Given the description of an element on the screen output the (x, y) to click on. 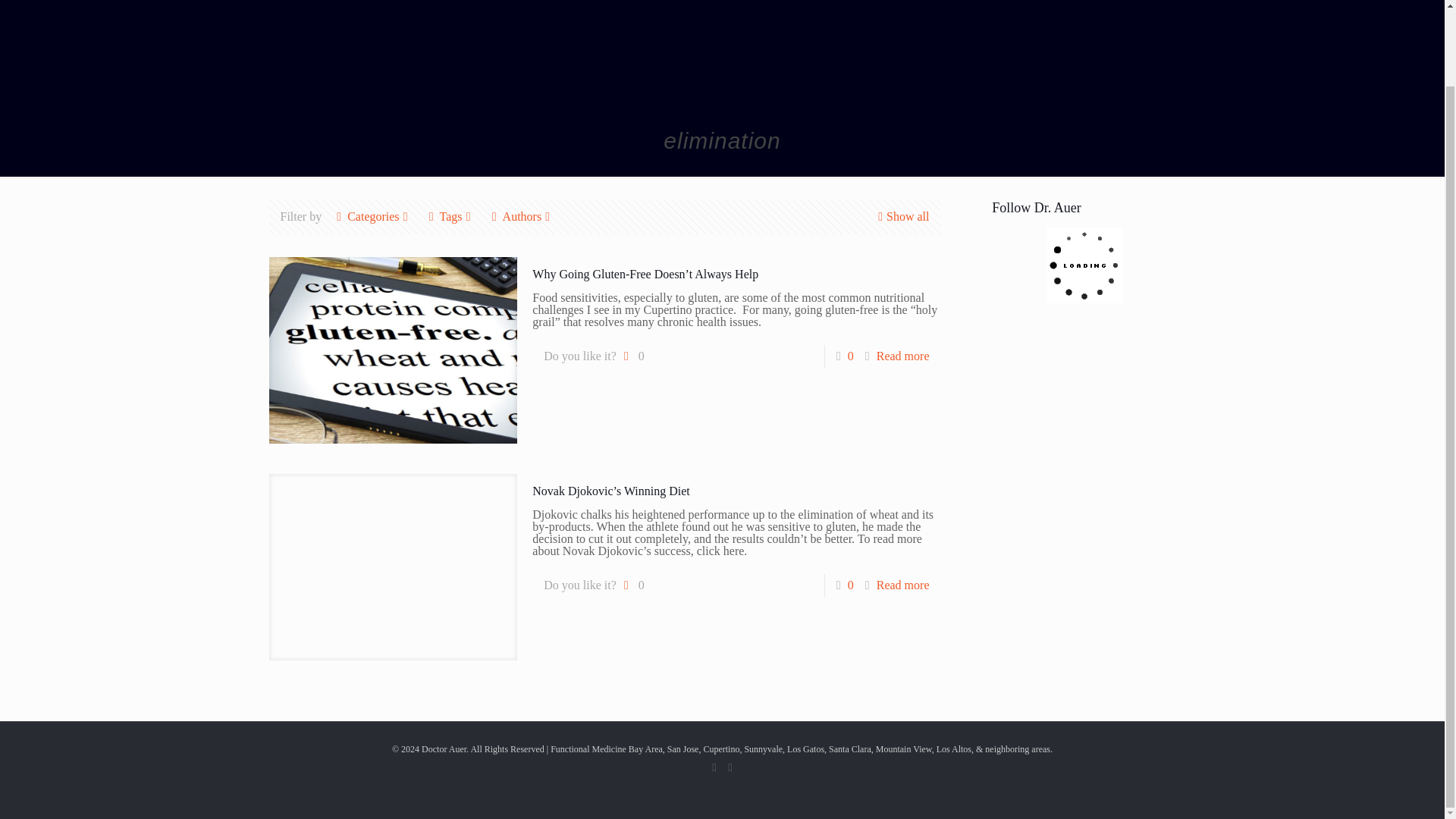
Categories (373, 215)
Facebook (713, 767)
Show all (901, 215)
Authors (521, 215)
Tags (451, 215)
